Given the description of an element on the screen output the (x, y) to click on. 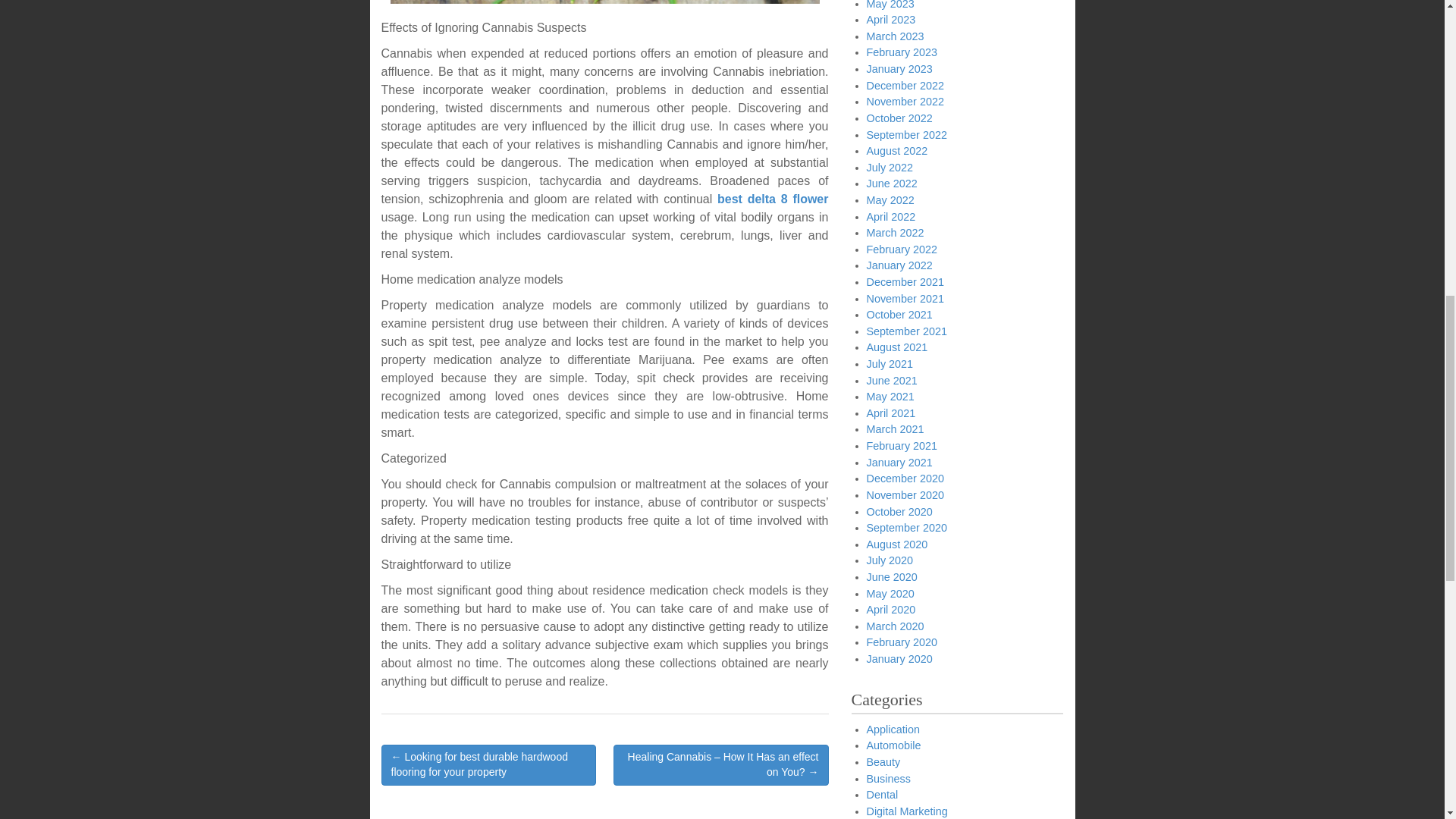
best delta 8 flower (772, 198)
February 2023 (901, 51)
December 2022 (904, 85)
May 2023 (890, 4)
March 2023 (894, 36)
April 2023 (890, 19)
January 2023 (898, 69)
